Given the description of an element on the screen output the (x, y) to click on. 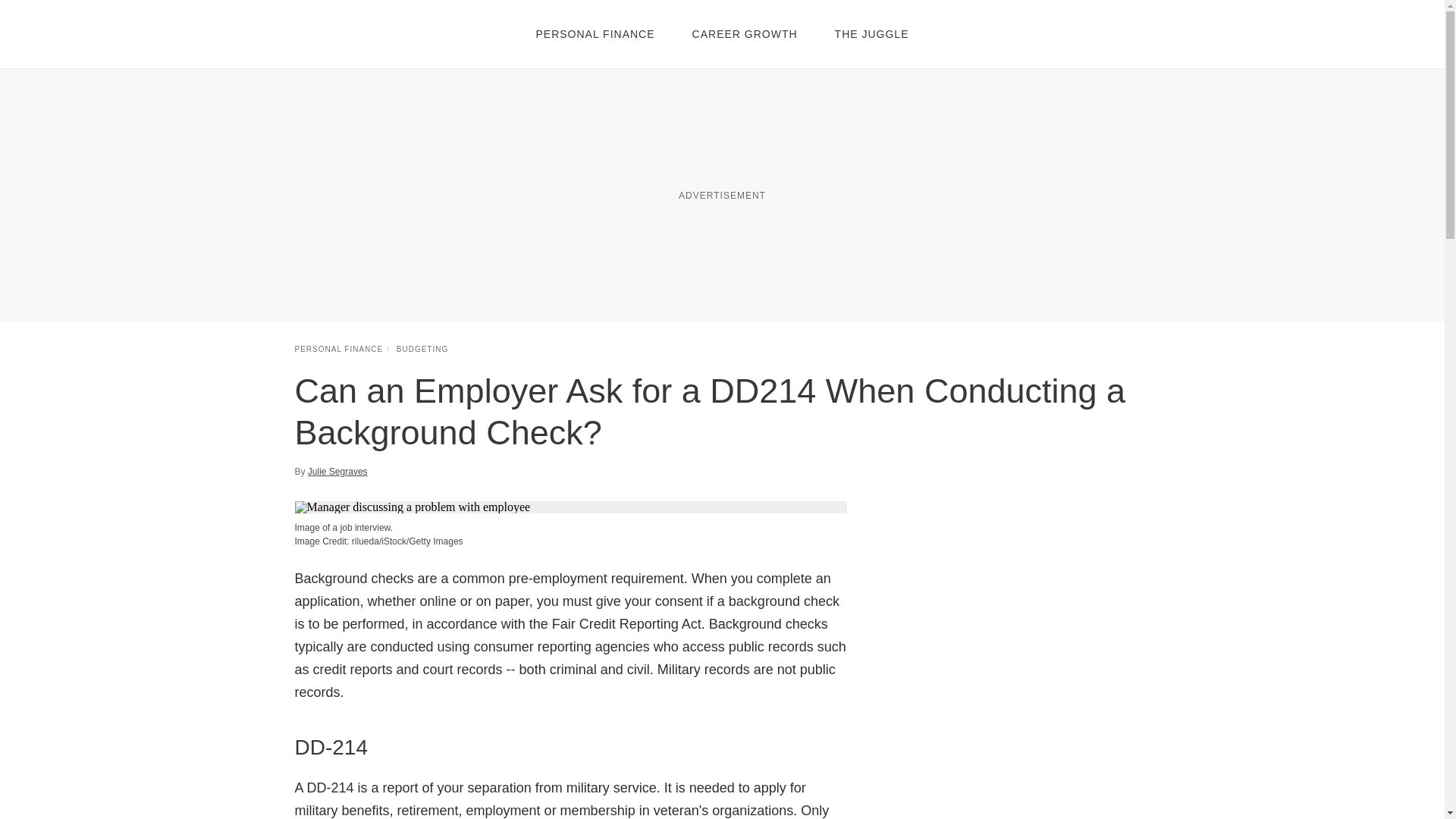
PERSONAL FINANCE (338, 348)
BUDGETING (422, 348)
Julie Segraves (337, 471)
